Given the description of an element on the screen output the (x, y) to click on. 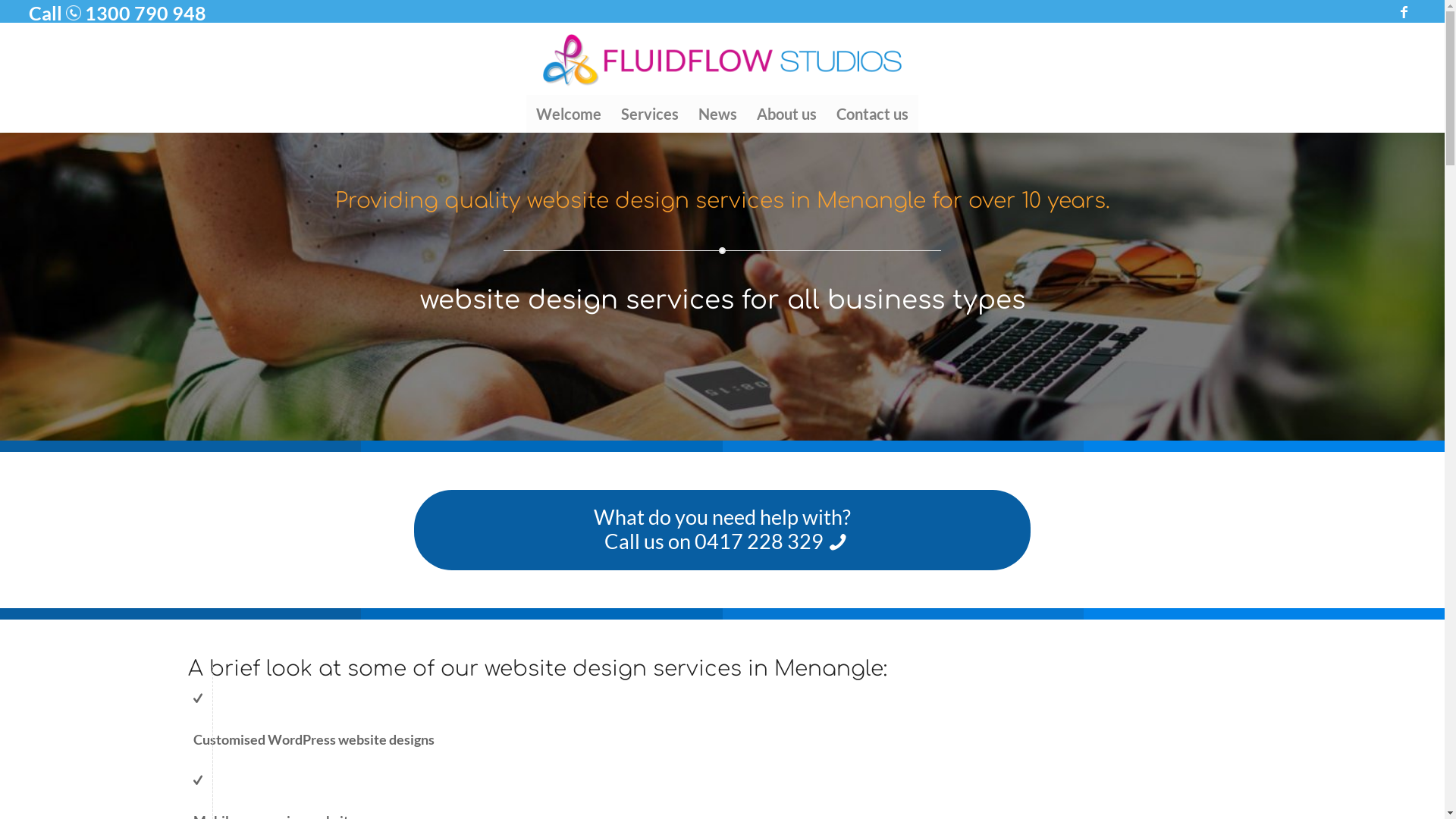
Facebook Element type: hover (1404, 11)
Welcome Element type: text (568, 113)
About us Element type: text (786, 113)
News Element type: text (717, 113)
Contact us Element type: text (872, 113)
1300 790 948 Element type: text (143, 12)
Services Element type: text (649, 113)
What do you need help with?
Call us on 0417 228 329 Element type: text (721, 529)
